Given the description of an element on the screen output the (x, y) to click on. 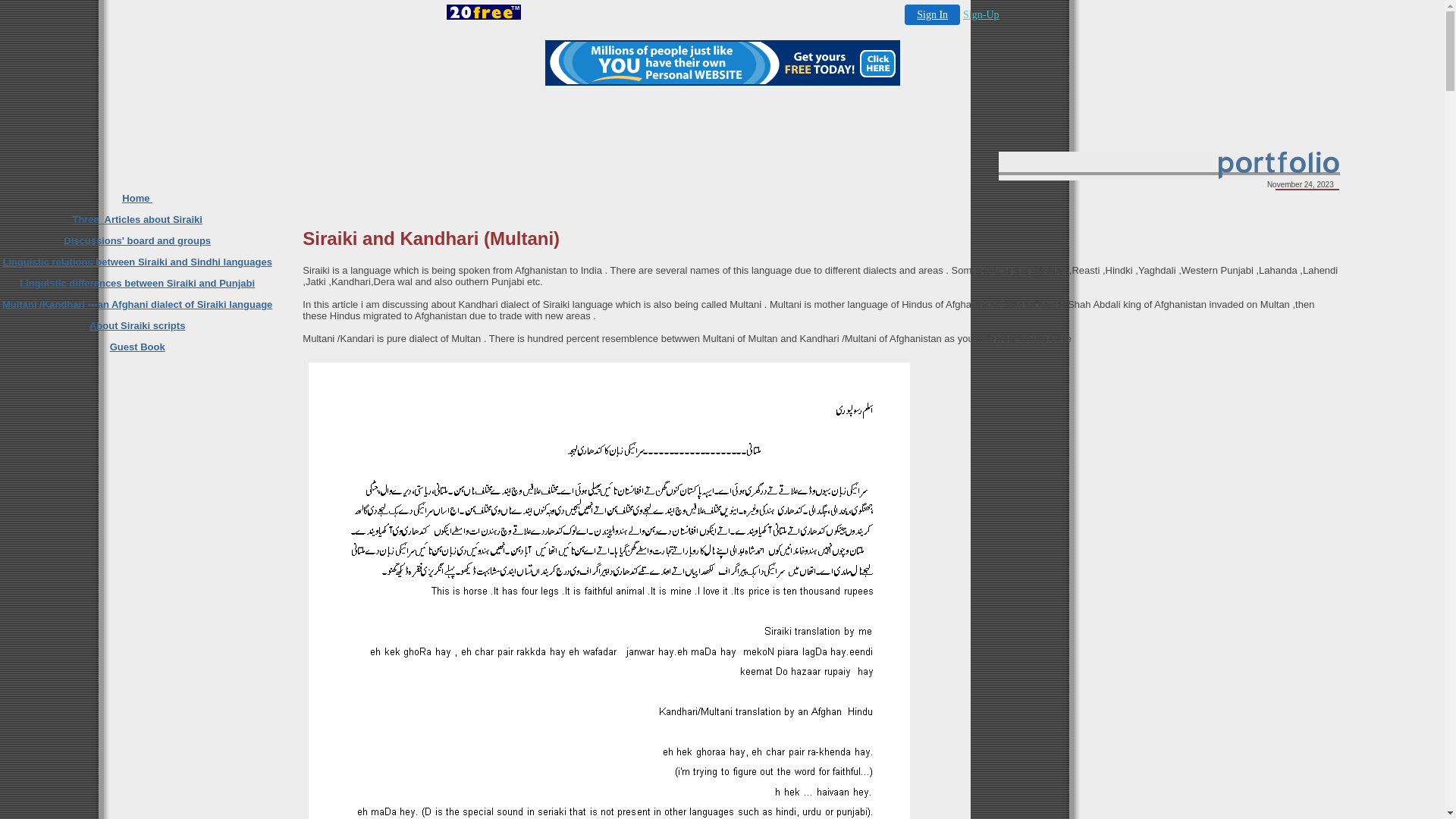
Linguistic relations between Siraiki and Sindhi languages Element type: text (136, 261)
Three  Articles about Siraiki Element type: text (136, 219)
Linguistic differences between Siraiki and Punjabi Element type: text (136, 282)
Multani /Kandhari ---an Afghani dialect of Siraiki language Element type: text (137, 304)
Home  Element type: text (137, 197)
Guest Book Element type: text (137, 346)
Sign In Element type: text (932, 14)
Discussions' board and groups Element type: text (136, 240)
About Siraiki scripts Element type: text (137, 325)
Sign-Up Element type: text (980, 14)
